Given the description of an element on the screen output the (x, y) to click on. 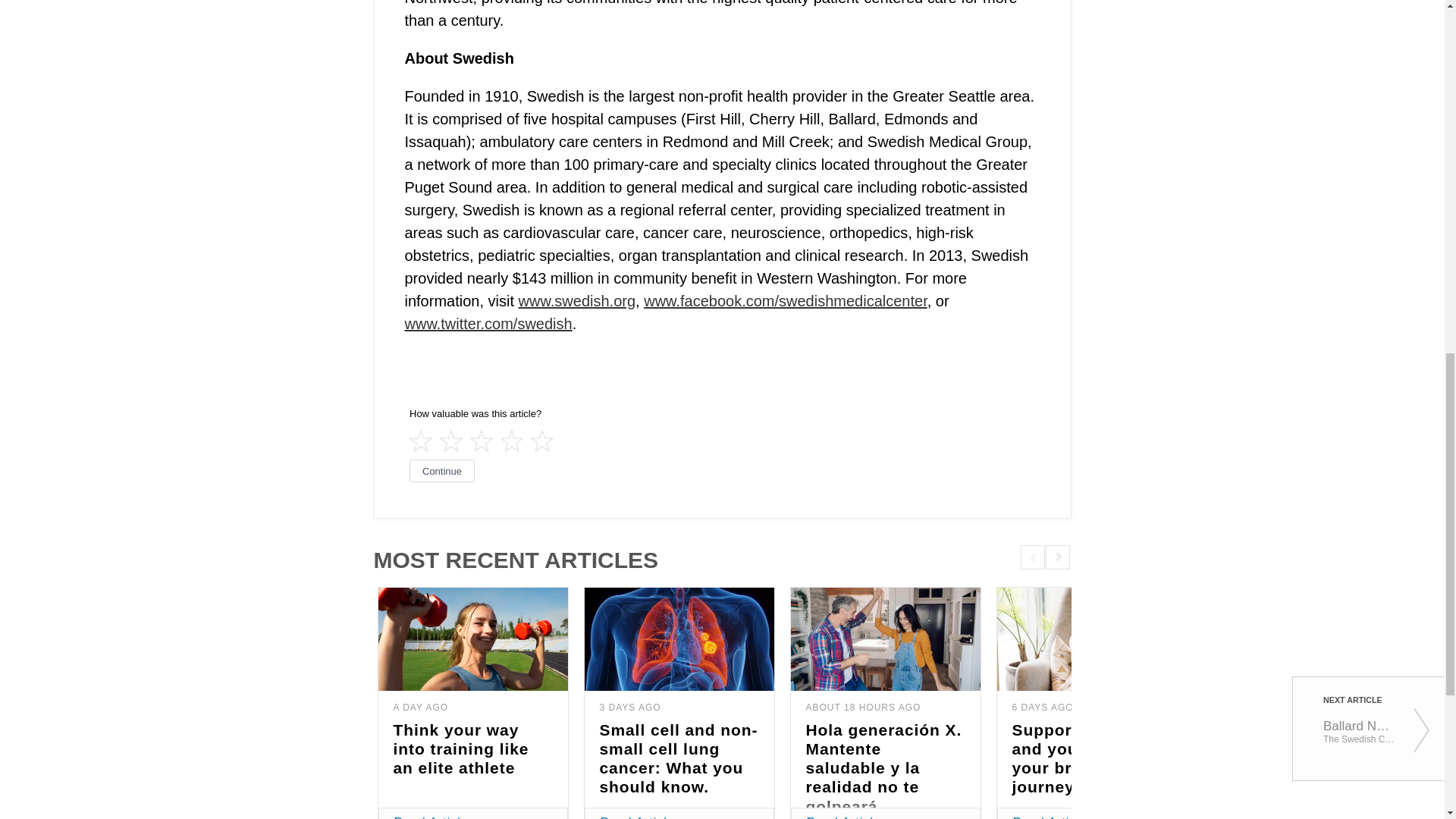
2024-08-16T15:24:19 (1042, 706)
2024-08-19T11:59:02 (629, 706)
2024-08-21T16:49:20 (862, 706)
2024-08-21T07:00:05 (420, 706)
